Given the description of an element on the screen output the (x, y) to click on. 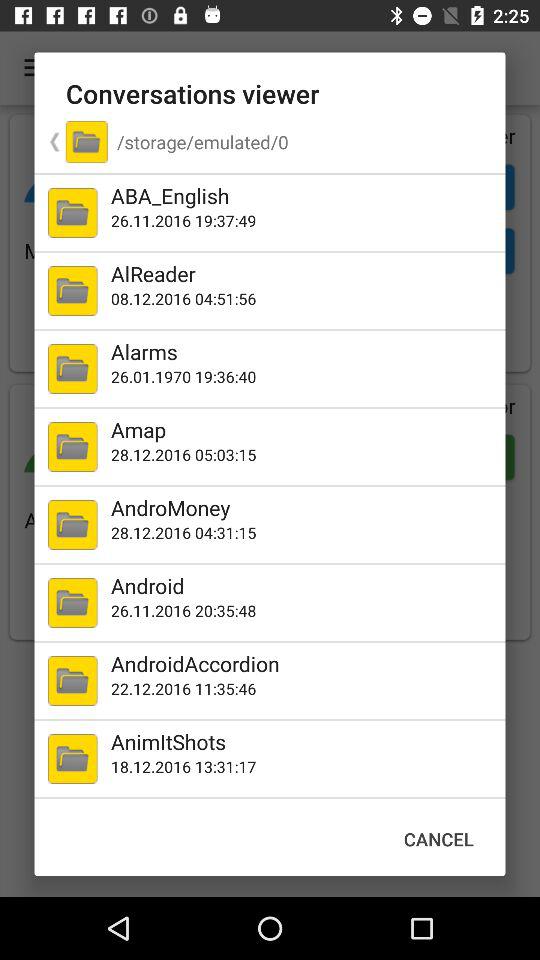
turn on animitshots item (304, 741)
